Given the description of an element on the screen output the (x, y) to click on. 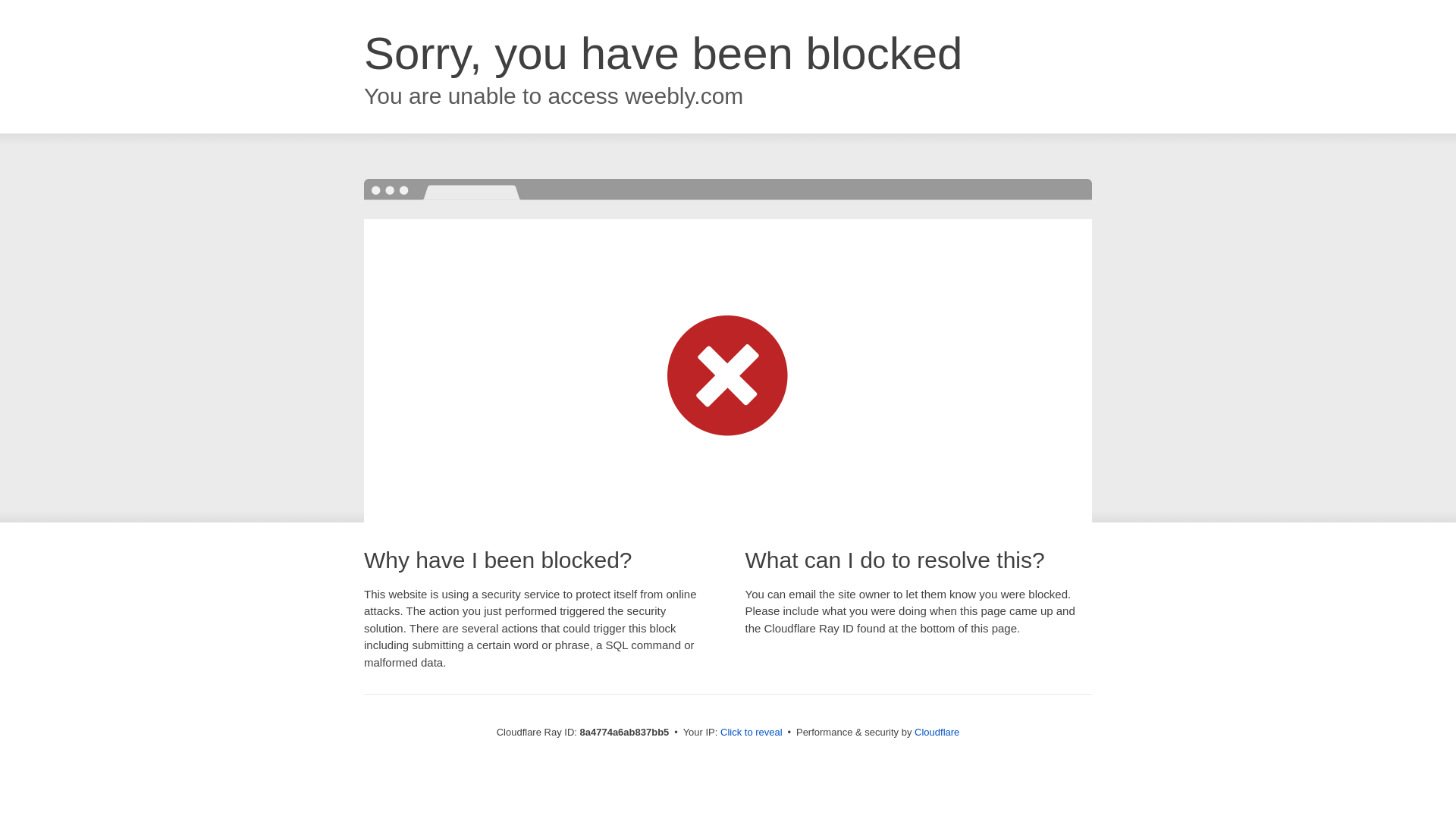
Click to reveal (751, 732)
Cloudflare (936, 731)
